Given the description of an element on the screen output the (x, y) to click on. 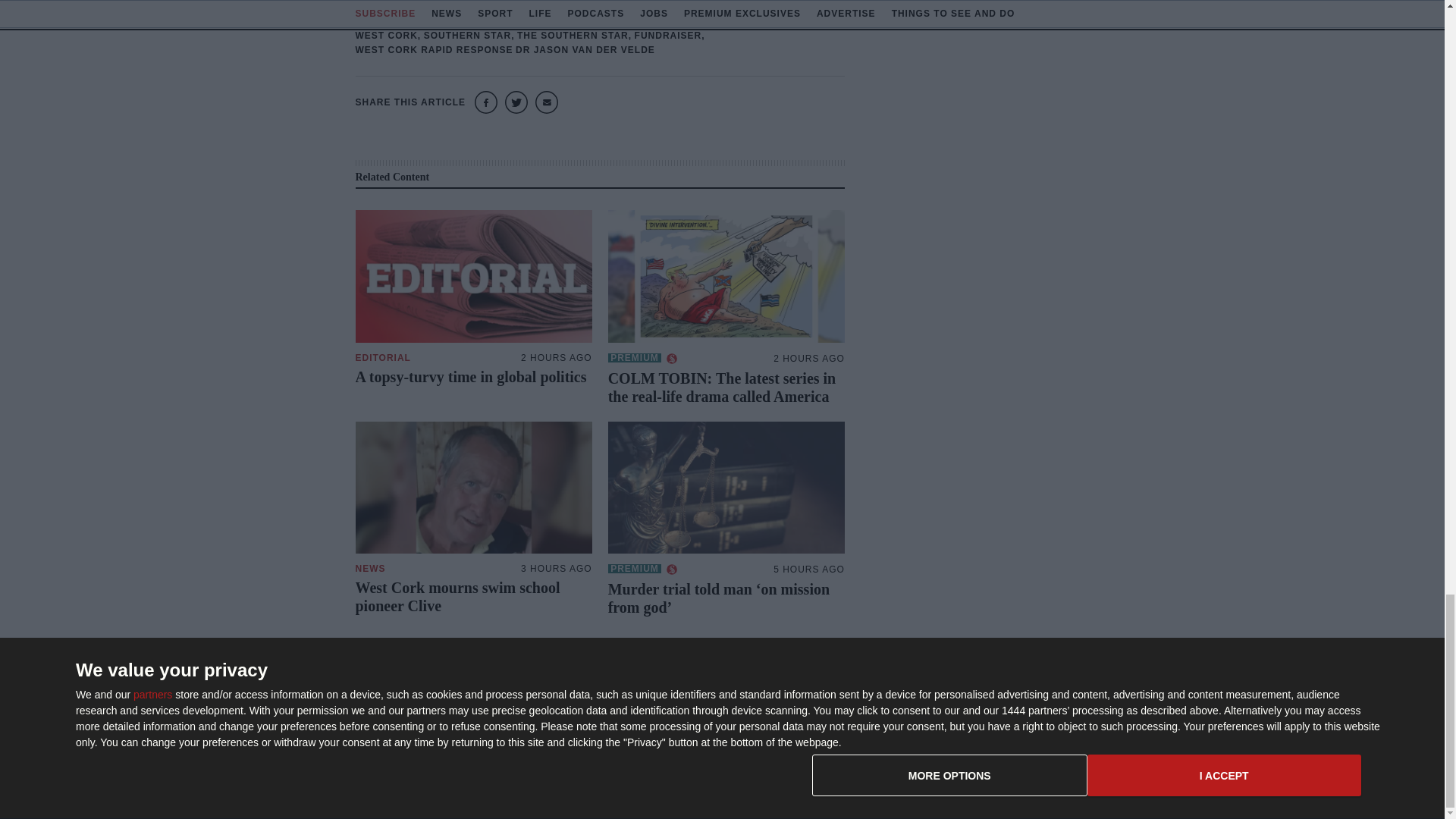
ePaper (839, 696)
Southern Star Ltd. logo (430, 702)
Advertise With Us (863, 720)
Contact Us (1002, 696)
Learn A Language (864, 769)
Comments Policy (1017, 745)
Archive (839, 745)
